Given the description of an element on the screen output the (x, y) to click on. 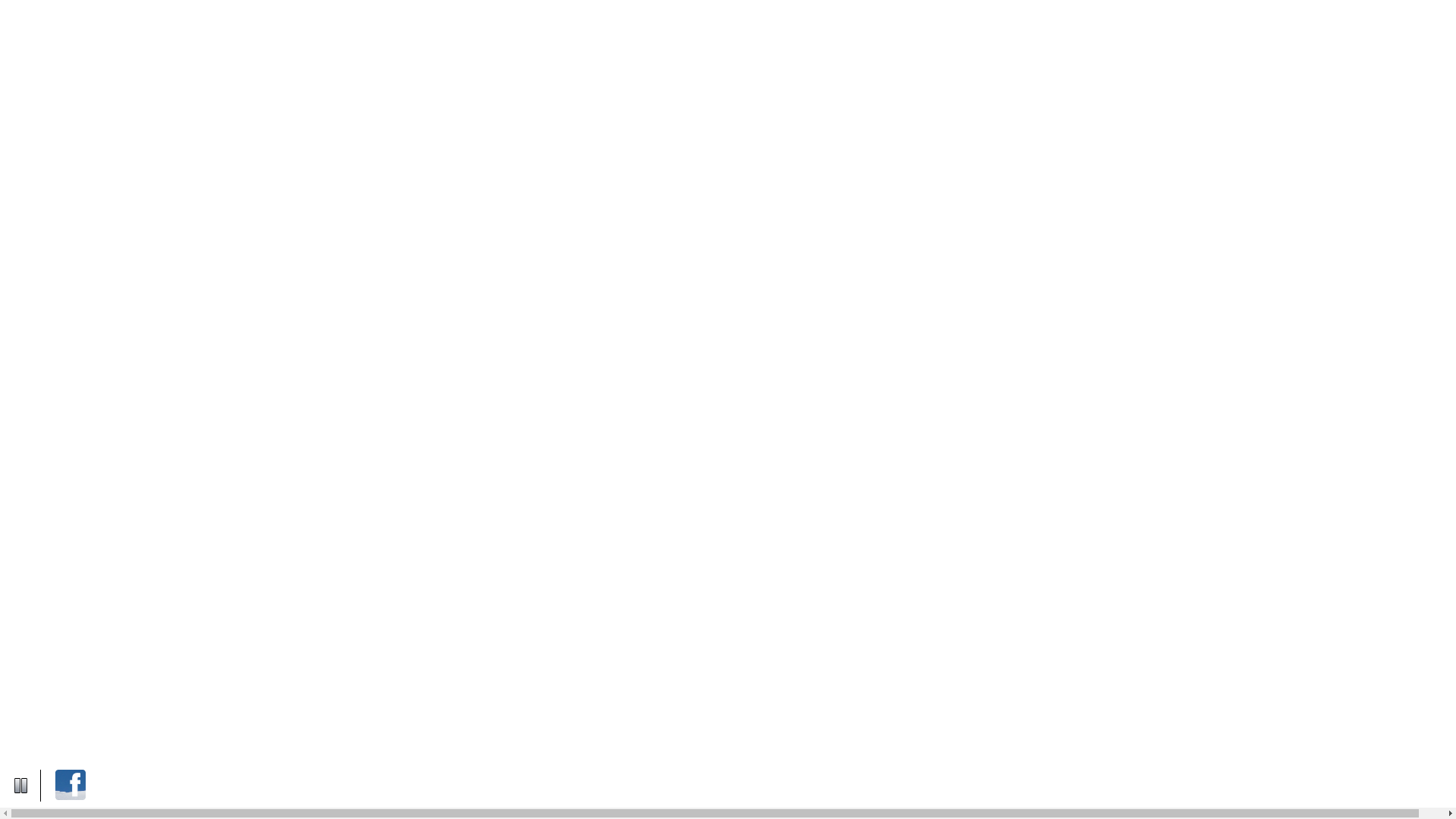
trail map Element type: text (190, 29)
links Element type: text (247, 29)
home Element type: text (50, 29)
village map Element type: text (115, 29)
contact us Element type: text (305, 29)
